Given the description of an element on the screen output the (x, y) to click on. 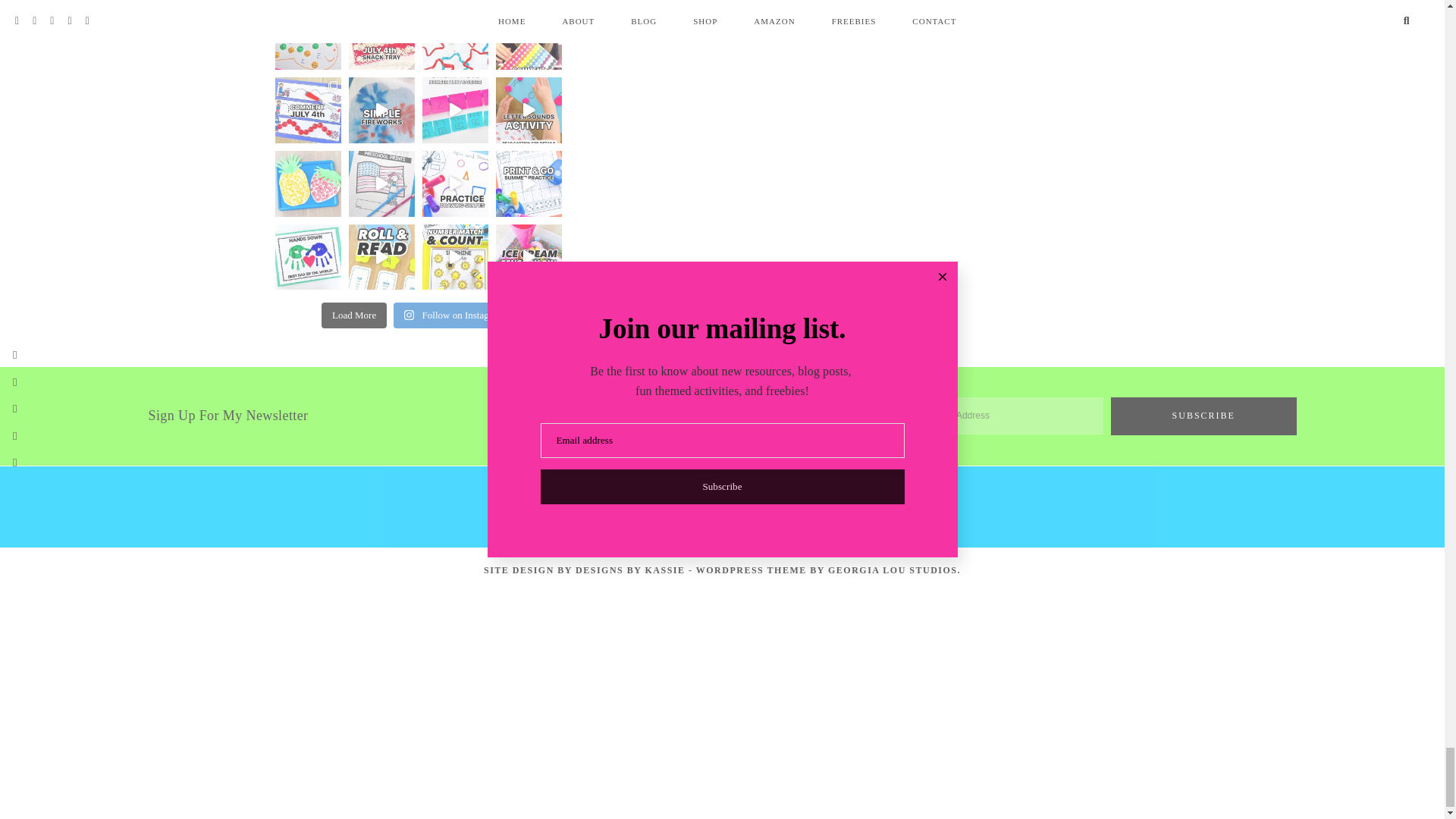
Subscribe (1202, 415)
